Given the description of an element on the screen output the (x, y) to click on. 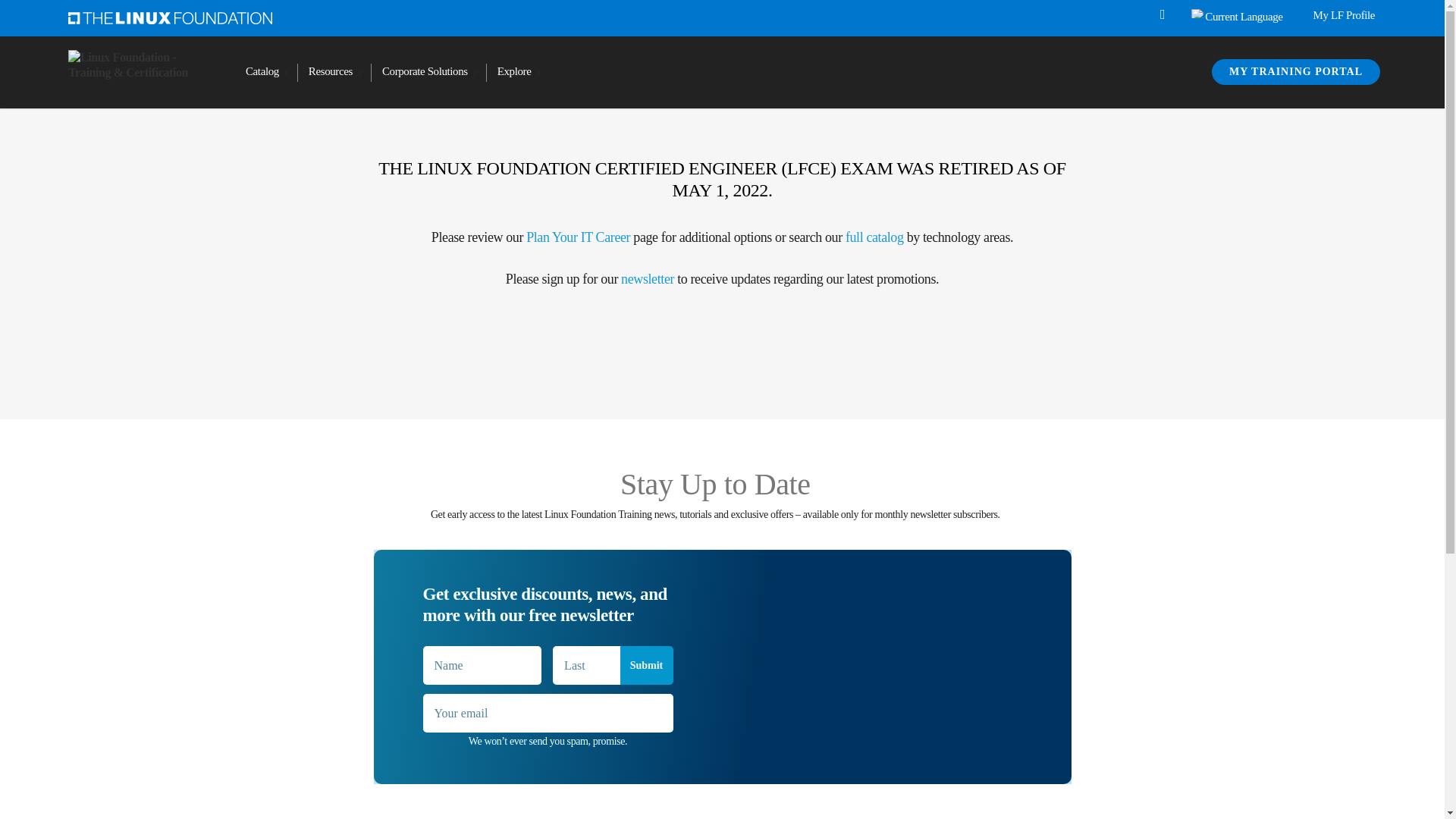
Current Language (1198, 13)
Submit (646, 665)
Corporate Solutions (428, 72)
Explore (518, 72)
Catalog (265, 72)
Resources (334, 72)
